Given the description of an element on the screen output the (x, y) to click on. 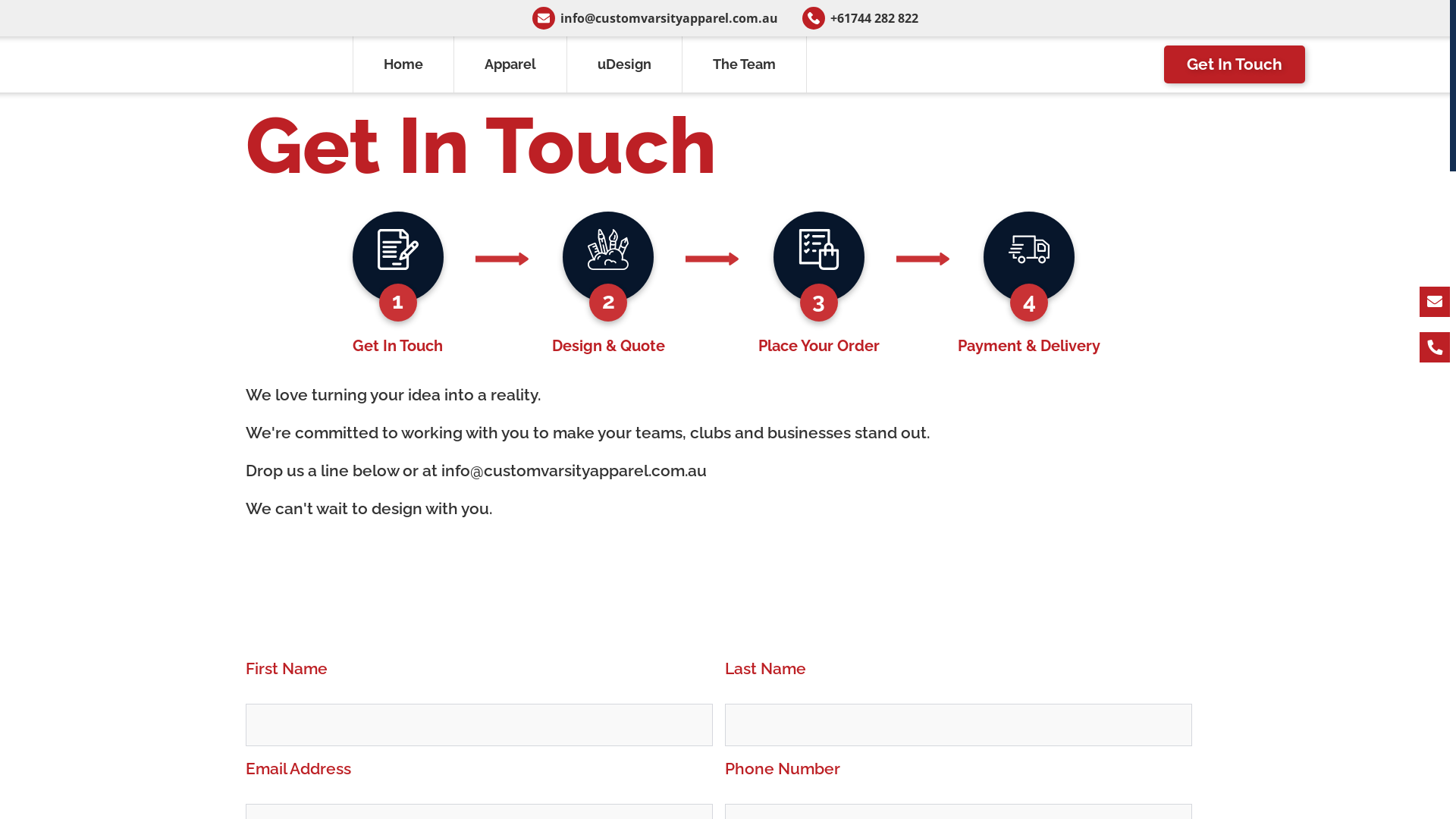
Apparel Element type: text (510, 64)
Get In Touch Element type: text (1234, 64)
info@customvarsityapparel.com.au Element type: text (655, 17)
The Team Element type: text (744, 64)
Home Element type: text (403, 64)
uDesign Element type: text (624, 64)
+61744 282 822 Element type: text (860, 17)
